Given the description of an element on the screen output the (x, y) to click on. 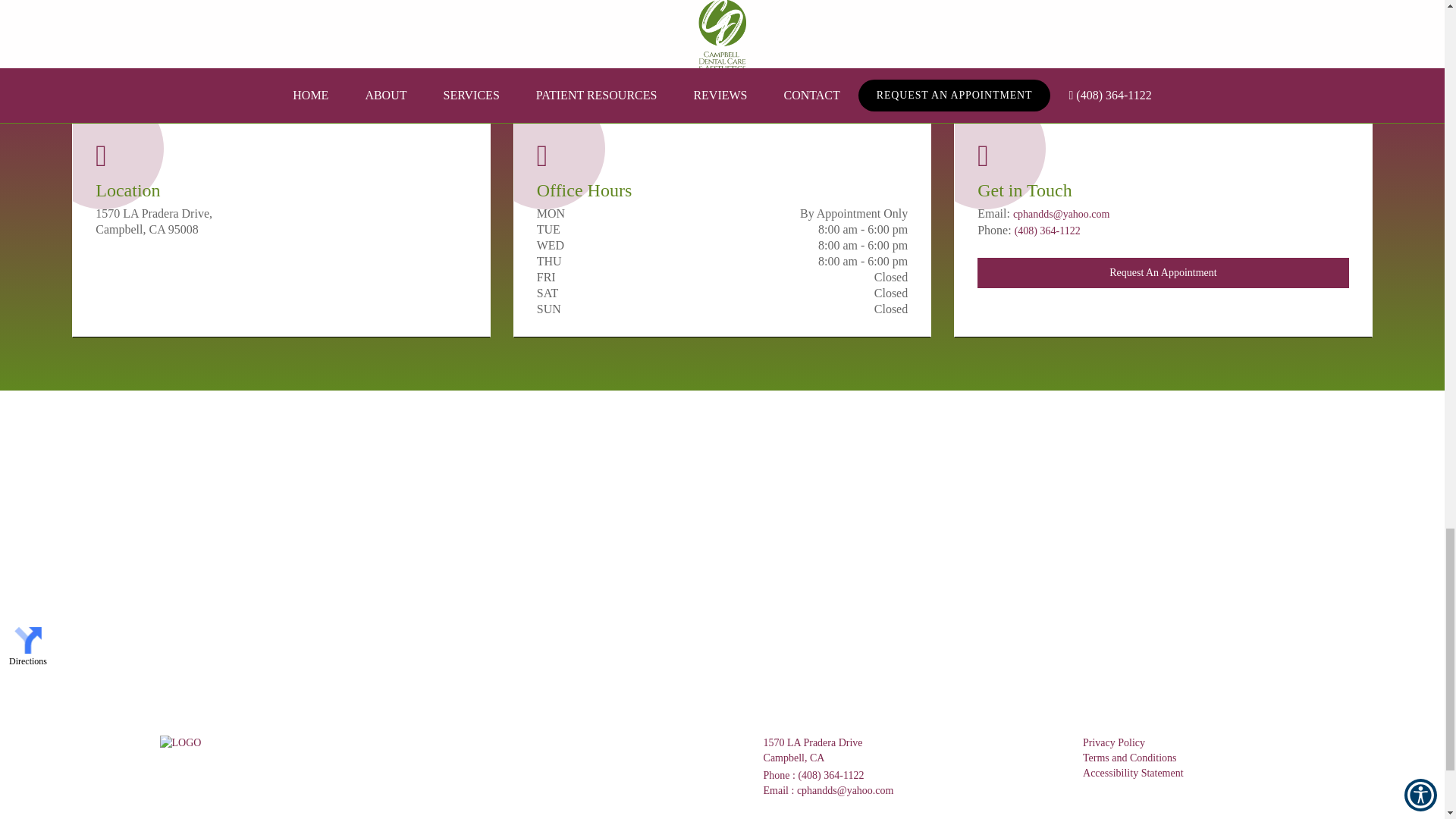
LOGO (179, 743)
